Given the description of an element on the screen output the (x, y) to click on. 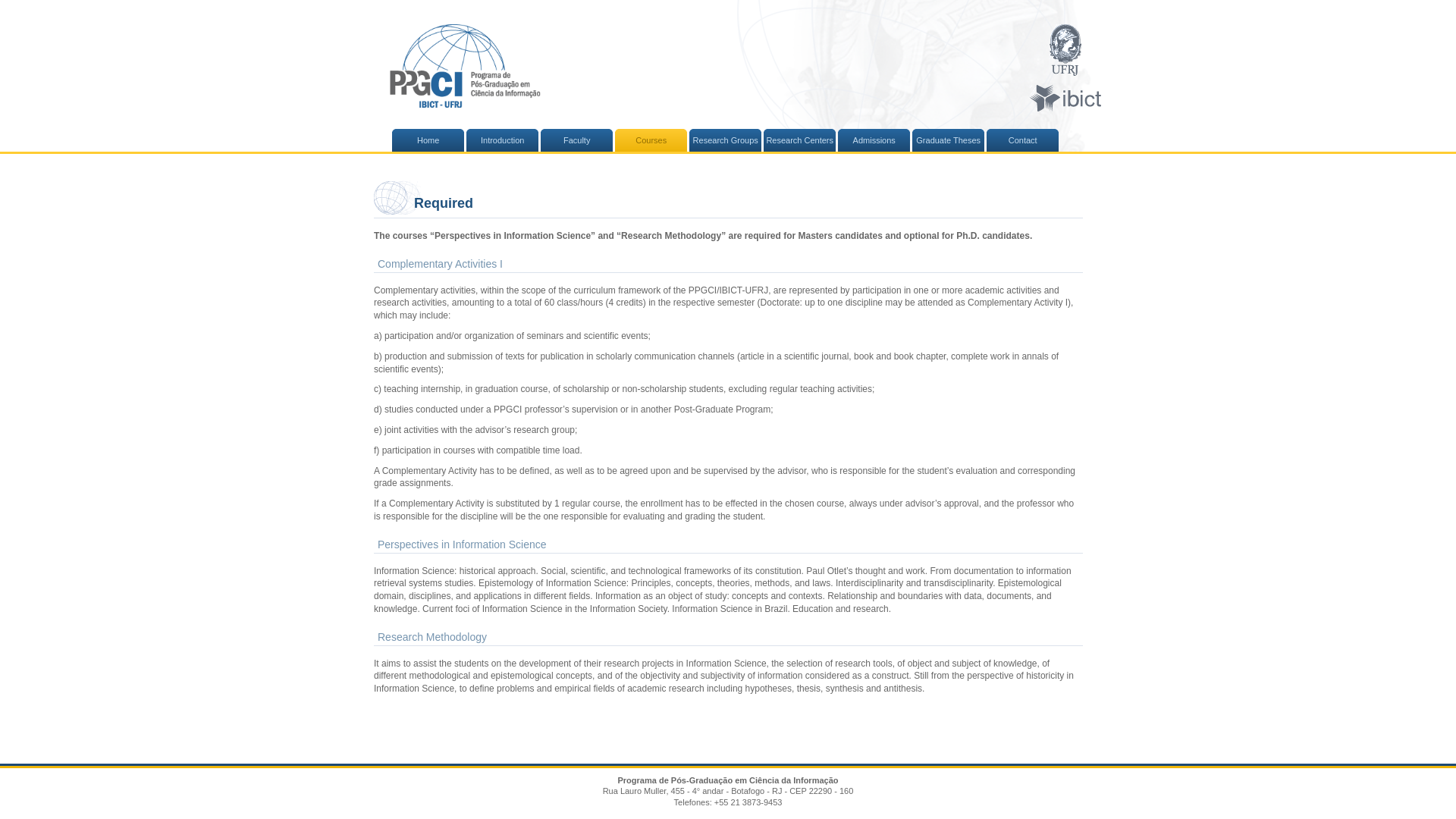
Home Element type: text (428, 139)
Research Centers Element type: text (799, 139)
Faculty Element type: text (576, 139)
Contact Element type: text (1022, 139)
UFRJ Element type: hover (1065, 50)
Admissions Element type: text (874, 139)
IBICT Element type: hover (1065, 98)
Research Groups Element type: text (725, 139)
Introduction Element type: text (502, 139)
Courses Element type: text (650, 139)
Graduate Theses Element type: text (948, 139)
